Given the description of an element on the screen output the (x, y) to click on. 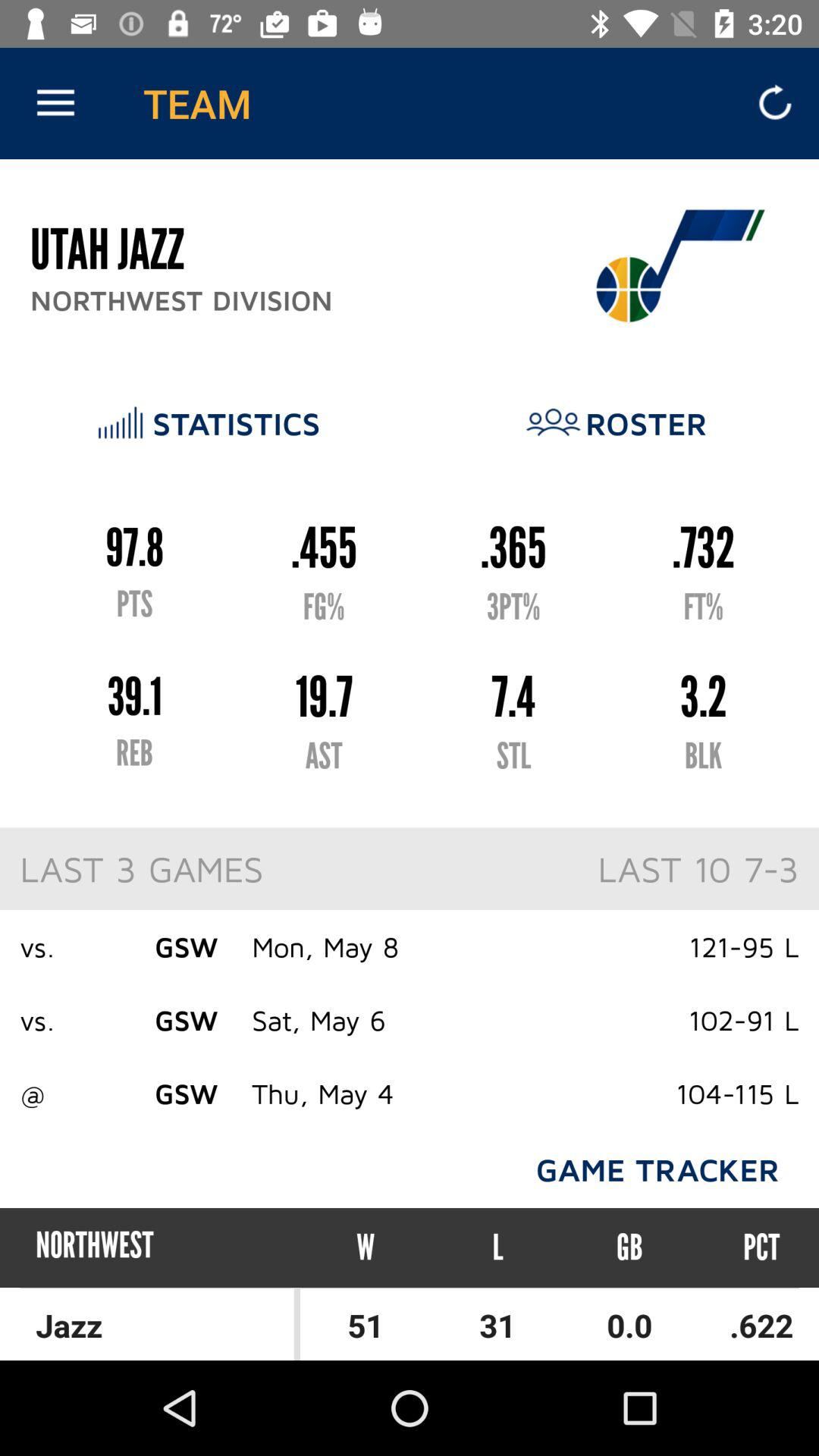
launch the pct item (747, 1247)
